Given the description of an element on the screen output the (x, y) to click on. 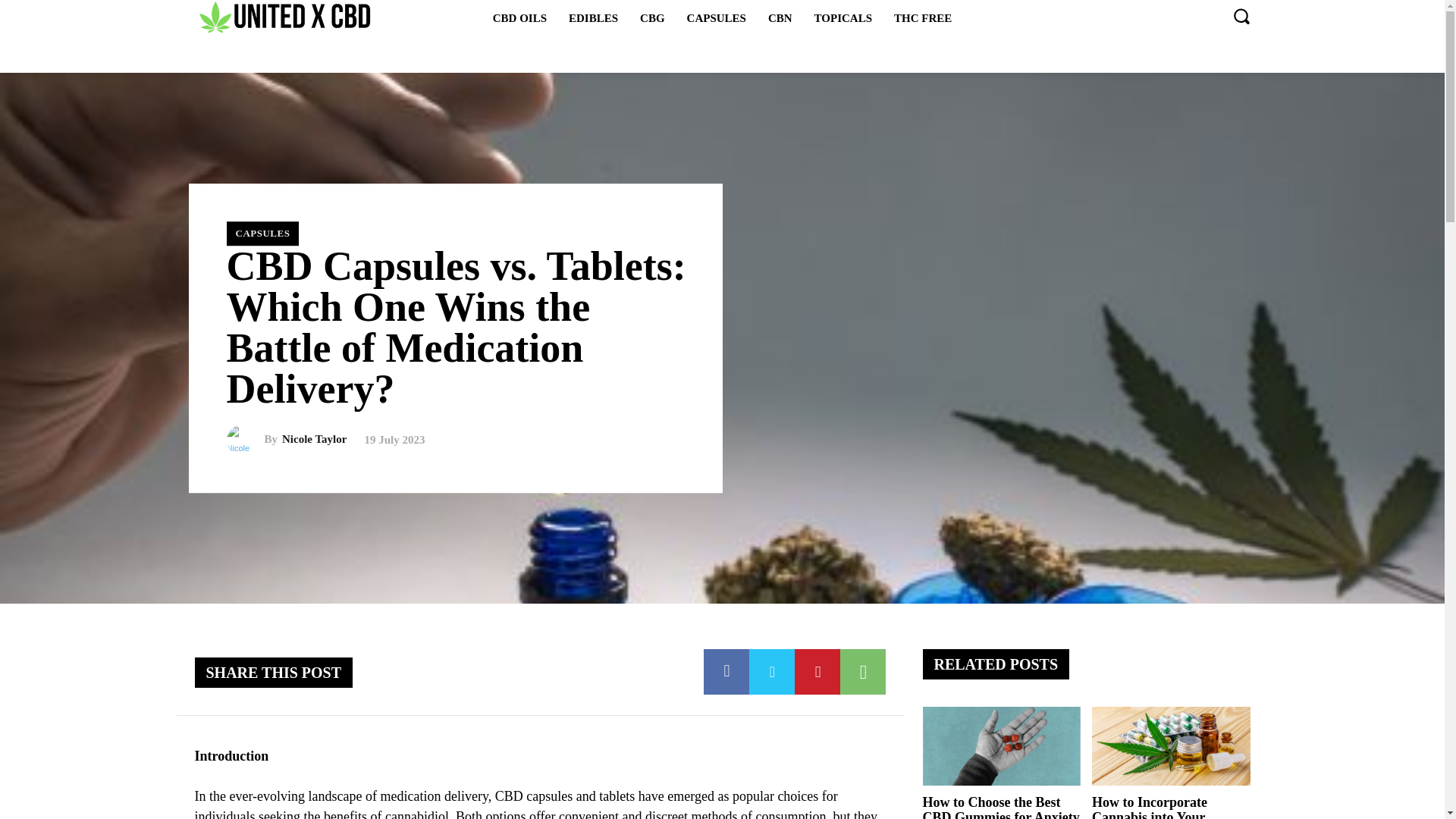
Pinterest (817, 671)
CBN (780, 17)
THC FREE (922, 17)
CAPSULES (261, 233)
Nicole Taylor (244, 440)
EDIBLES (593, 17)
Nicole Taylor (314, 439)
CBG (652, 17)
Facebook (726, 671)
CAPSULES (716, 17)
WhatsApp (862, 671)
How to Choose the Best CBD Gummies for Anxiety Relief (999, 806)
TOPICALS (842, 17)
